Given the description of an element on the screen output the (x, y) to click on. 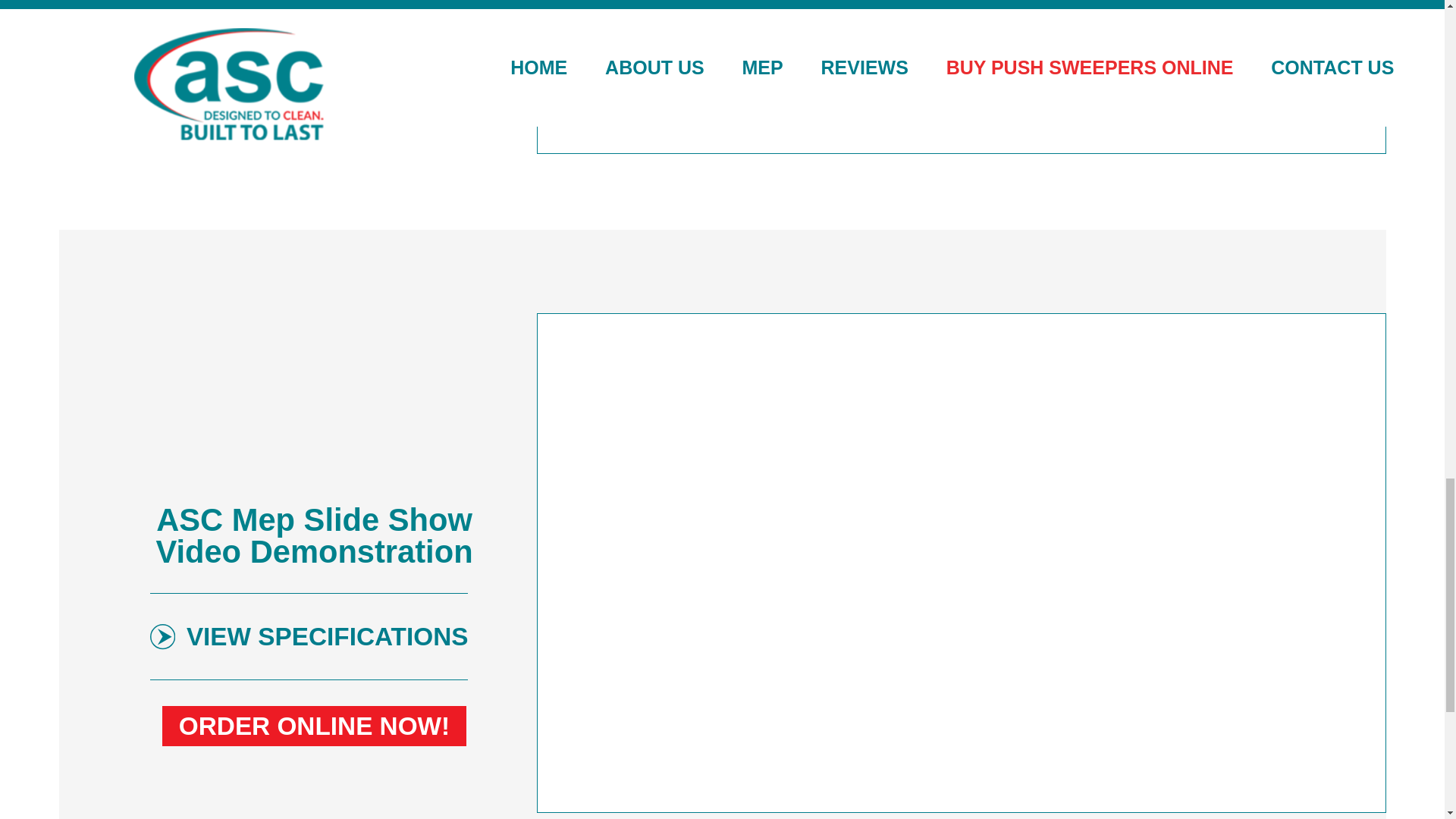
ORDER ONLINE NOW! (309, 65)
VIEW SPECIFICATIONS (308, 636)
VIEW SPECIFICATIONS (308, 7)
ORDER ONLINE NOW! (313, 725)
